Given the description of an element on the screen output the (x, y) to click on. 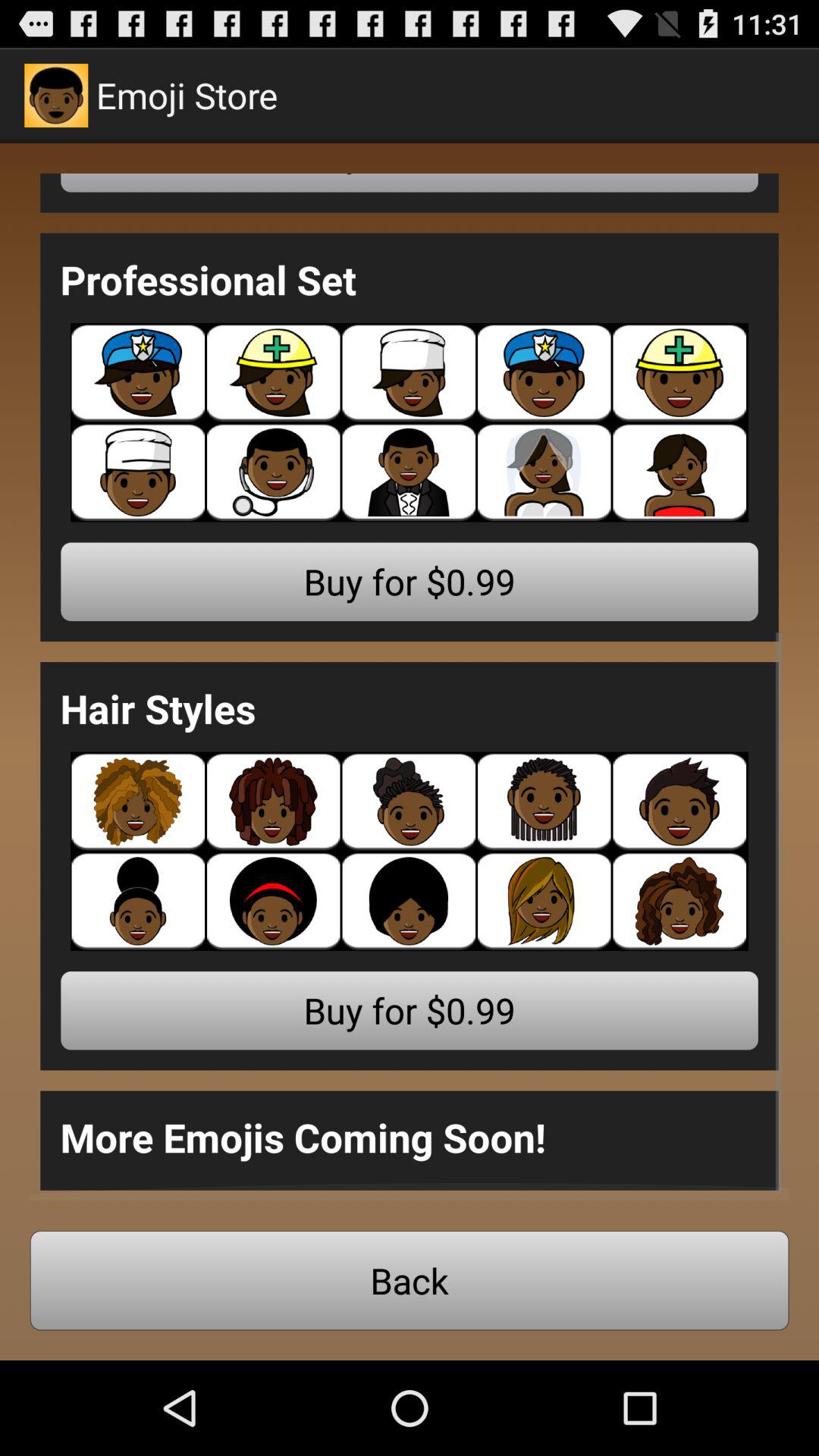
tap app below the more emojis coming item (409, 1280)
